Given the description of an element on the screen output the (x, y) to click on. 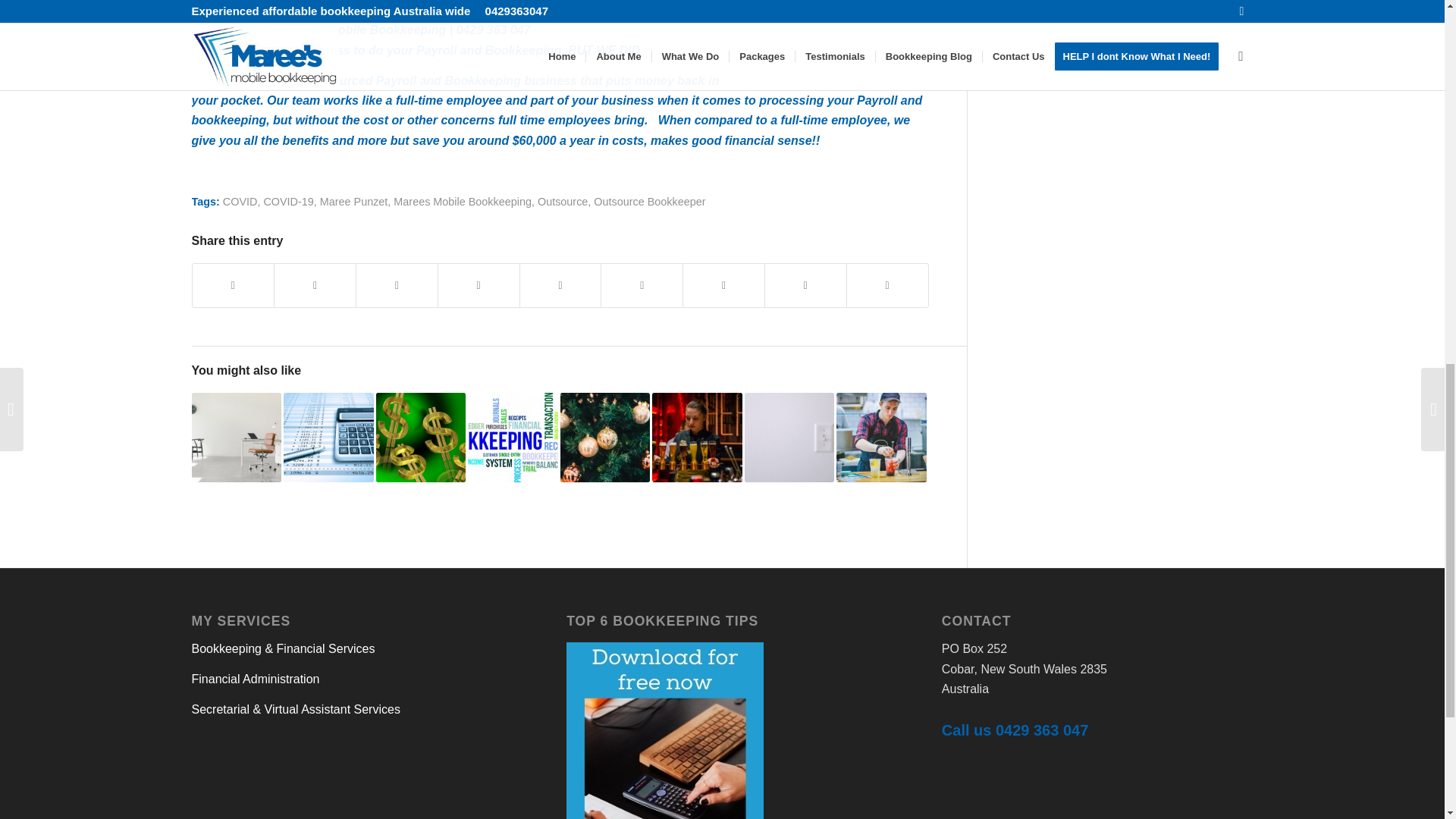
COVID (239, 201)
Maree Punzet (354, 201)
Outsource (562, 201)
Marees Mobile Bookkeeping (462, 201)
Did you know the ATO can cancel your ABN? (235, 438)
COVID-19 (288, 201)
Outsource Bookkeeper (649, 201)
